Given the description of an element on the screen output the (x, y) to click on. 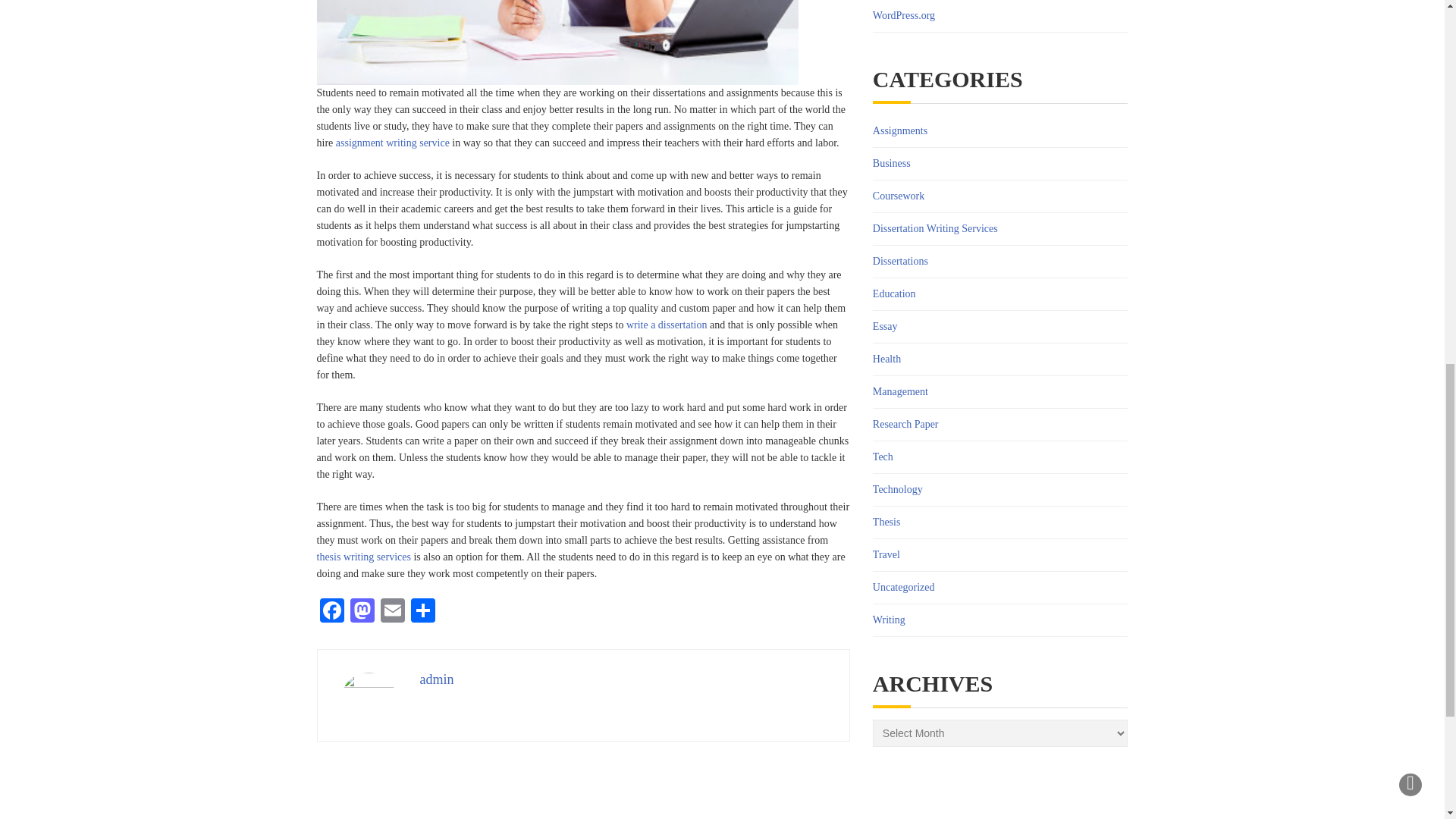
Facebook (332, 612)
Email (392, 612)
Share (422, 612)
Mastodon (362, 612)
Mastodon (362, 612)
thesis writing services (363, 556)
assignment writing service (392, 142)
Email (392, 612)
admin (437, 679)
write a dissertation (666, 324)
Facebook (332, 612)
